Given the description of an element on the screen output the (x, y) to click on. 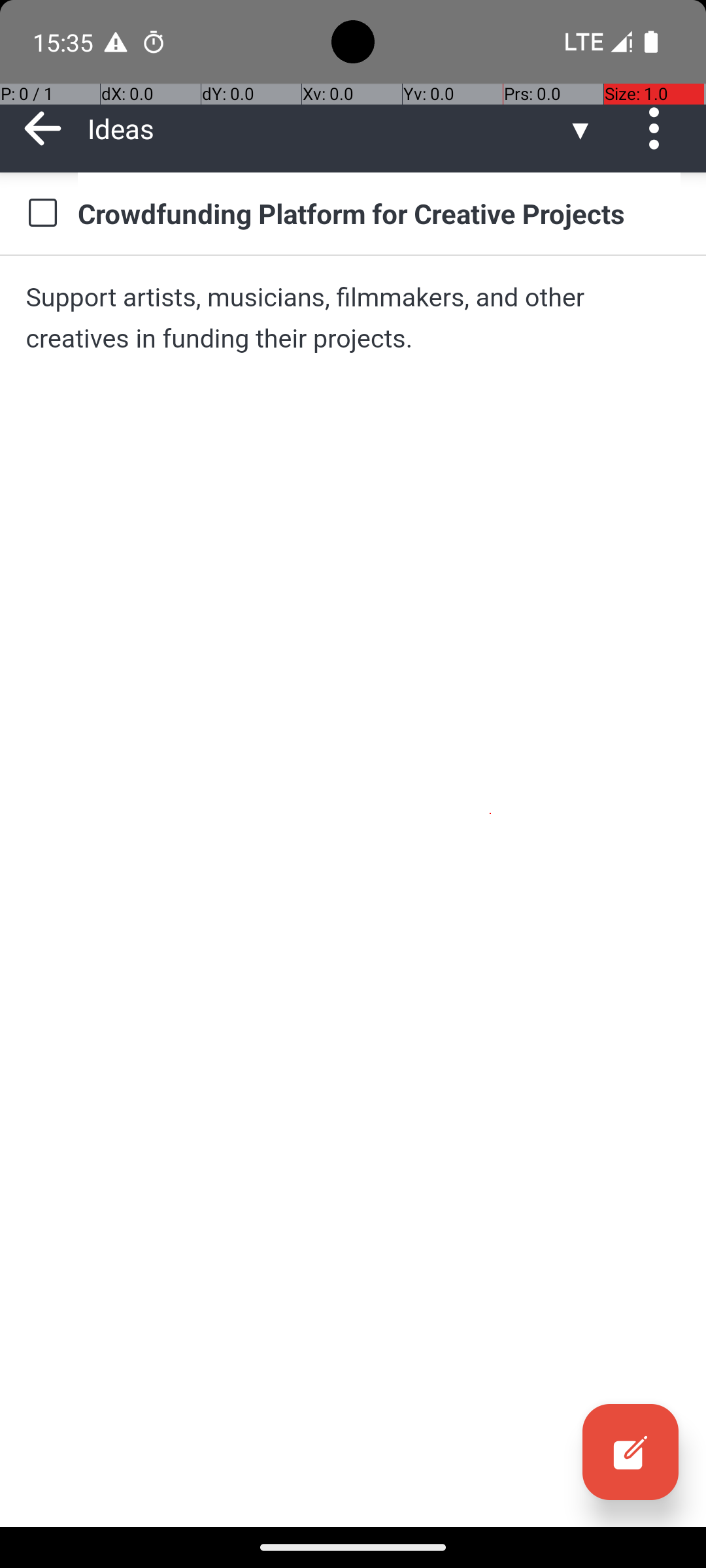
Crowdfunding Platform for Creative Projects Element type: android.widget.EditText (378, 213)
Ideas Element type: android.widget.TextView (326, 128)
Support artists, musicians, filmmakers, and other creatives in funding their projects. Element type: android.widget.TextView (352, 317)
